Given the description of an element on the screen output the (x, y) to click on. 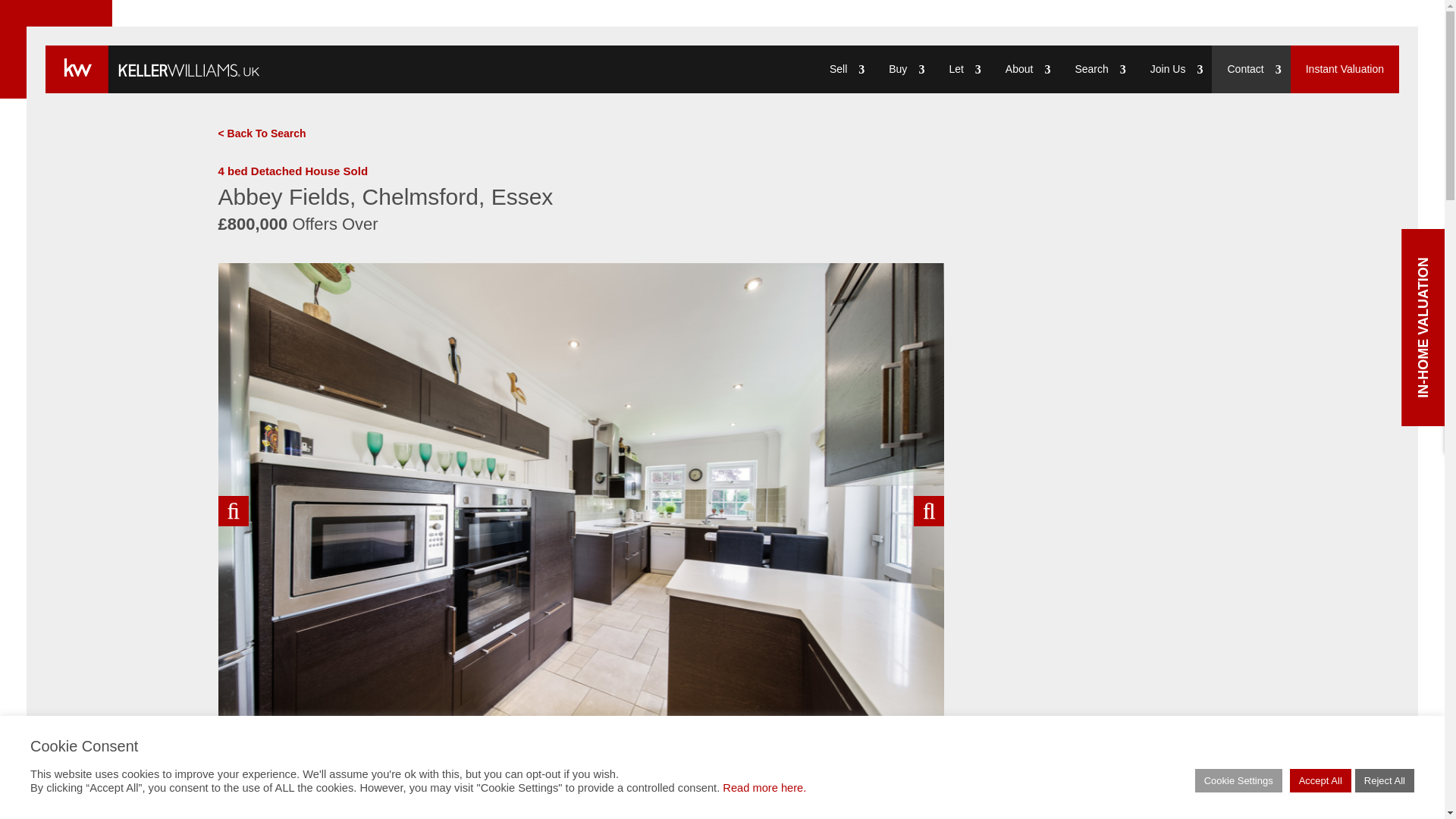
Sell (843, 69)
